Given the description of an element on the screen output the (x, y) to click on. 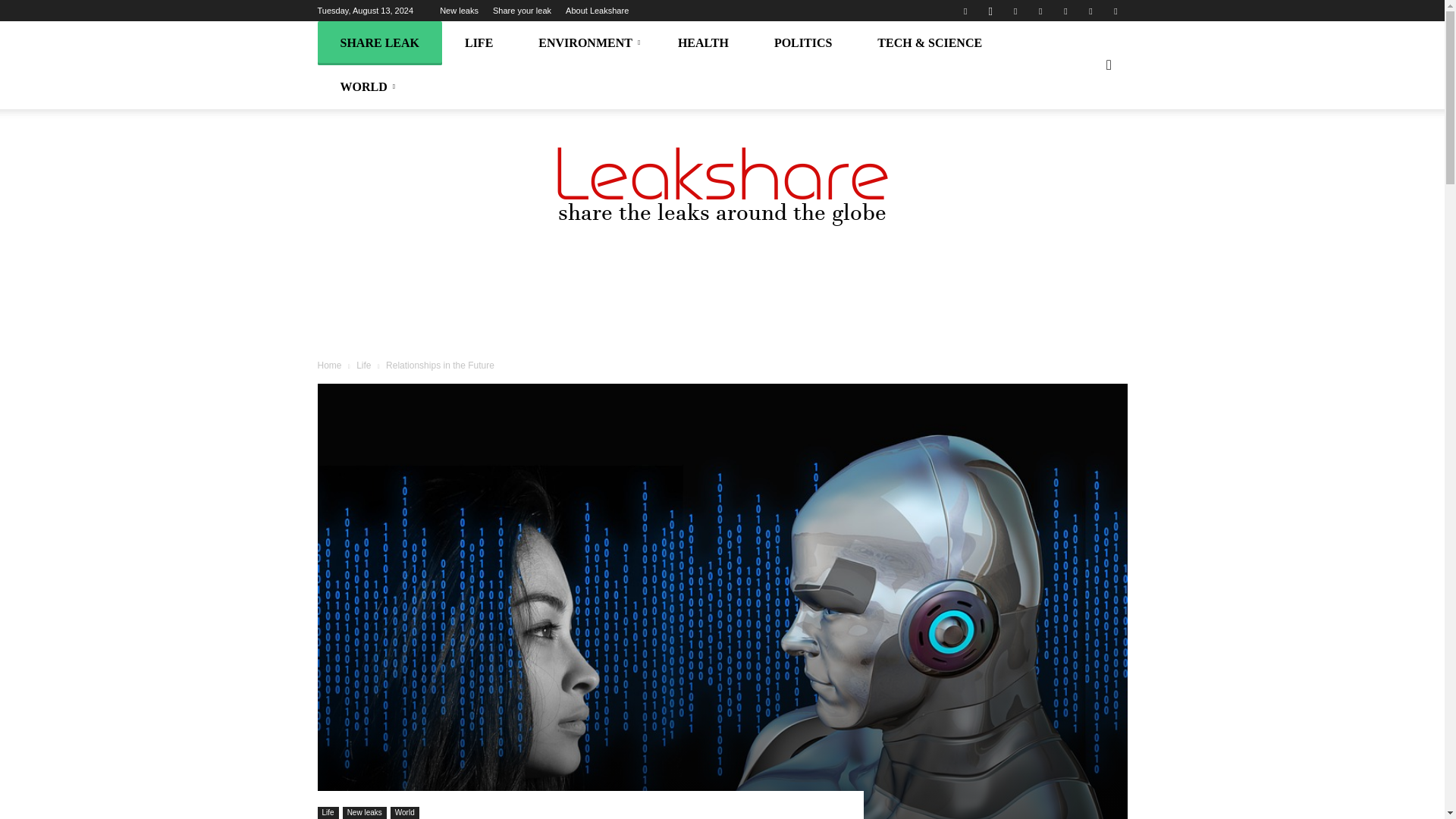
Linkedin (1015, 10)
Instagram (989, 10)
Share your leak (522, 10)
New leaks (459, 10)
Pinterest (1040, 10)
SHARE LEAK (379, 43)
ENVIRONMENT (585, 43)
About Leakshare (597, 10)
View all posts in Life (365, 365)
